Given the description of an element on the screen output the (x, y) to click on. 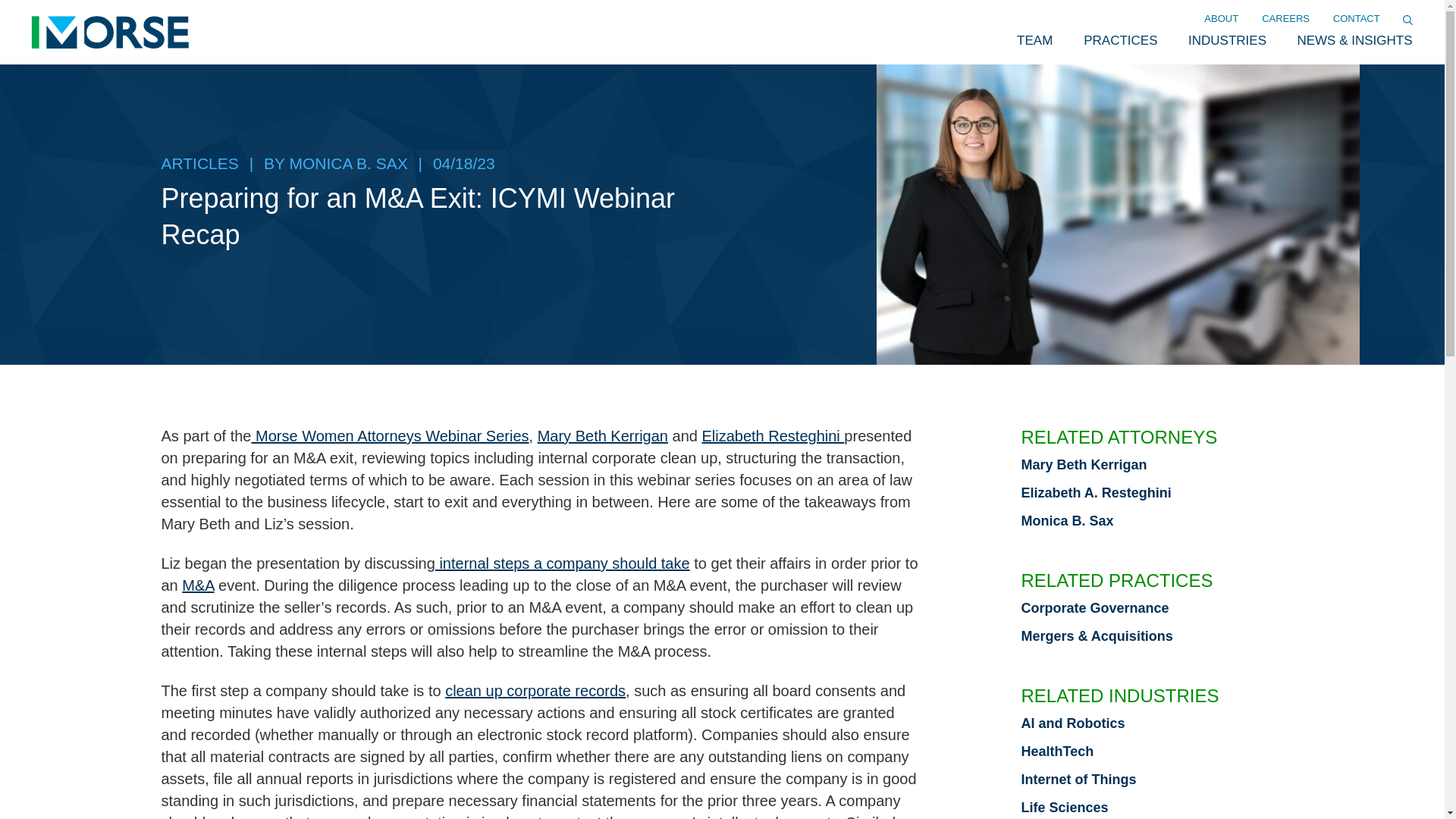
TEAM (1034, 41)
CONTACT (1356, 19)
CAREERS (1286, 19)
ABOUT (1221, 19)
INDUSTRIES (1227, 41)
PRACTICES (1120, 41)
Search (16, 6)
